Given the description of an element on the screen output the (x, y) to click on. 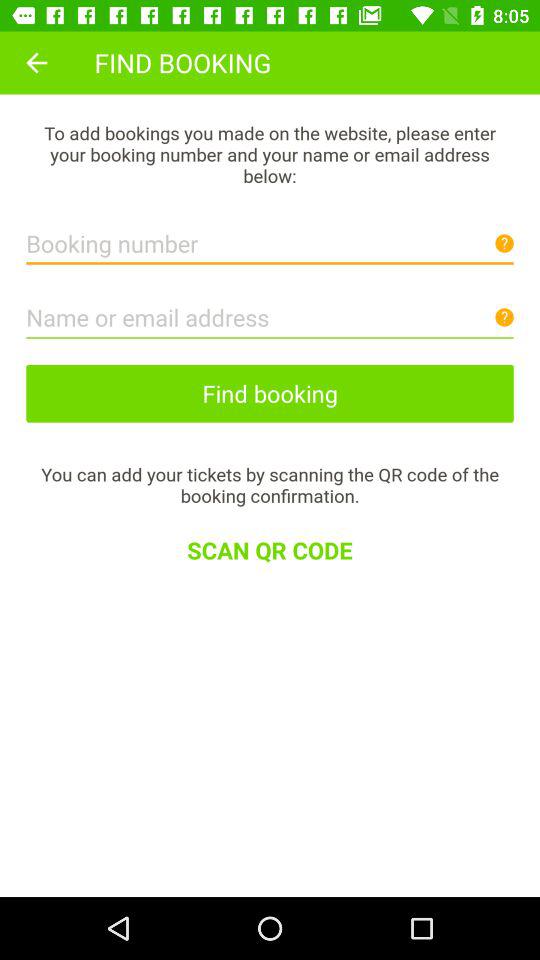
open icon next to find booking item (36, 62)
